Given the description of an element on the screen output the (x, y) to click on. 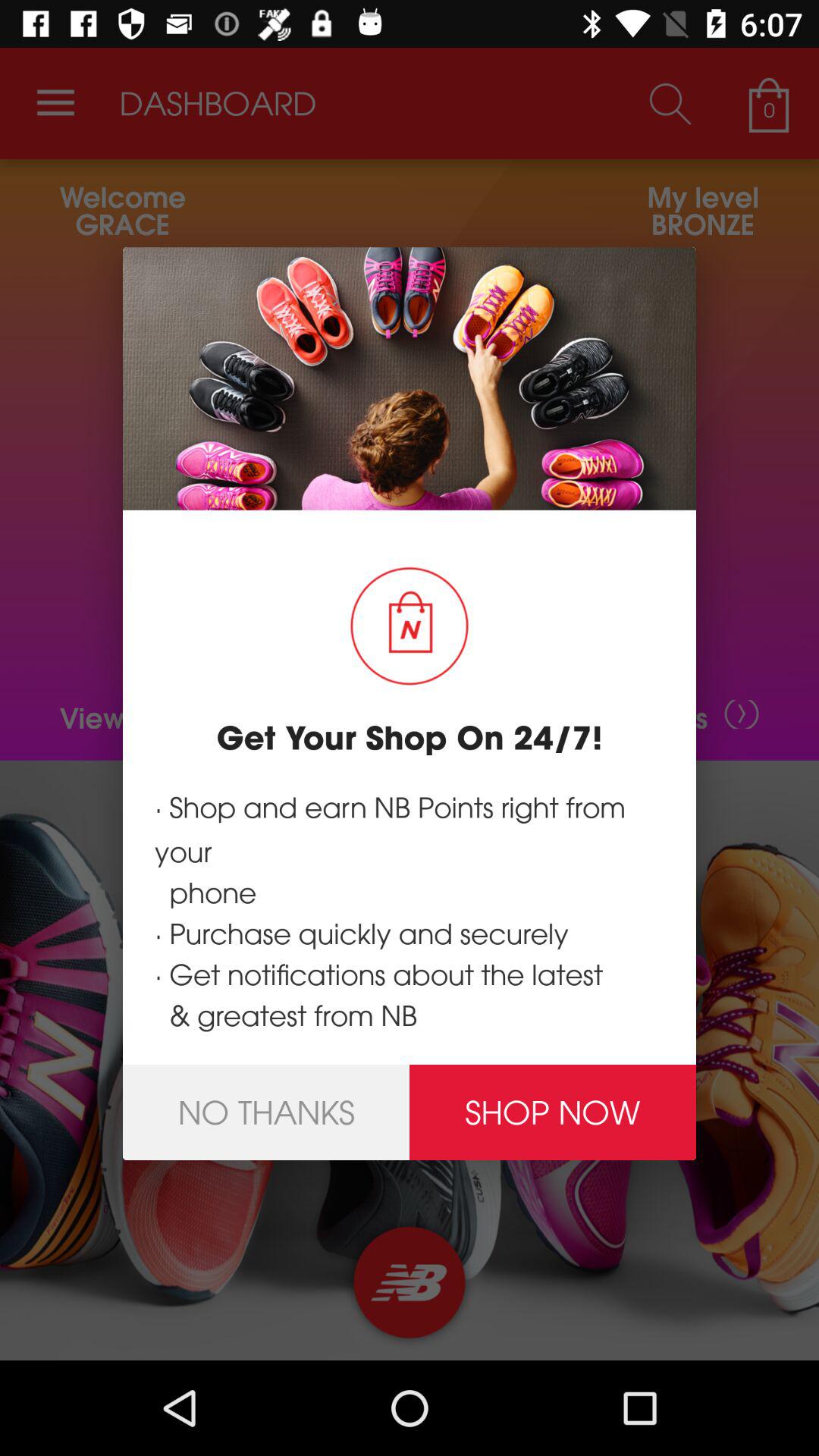
launch the item to the left of shop now icon (265, 1112)
